Given the description of an element on the screen output the (x, y) to click on. 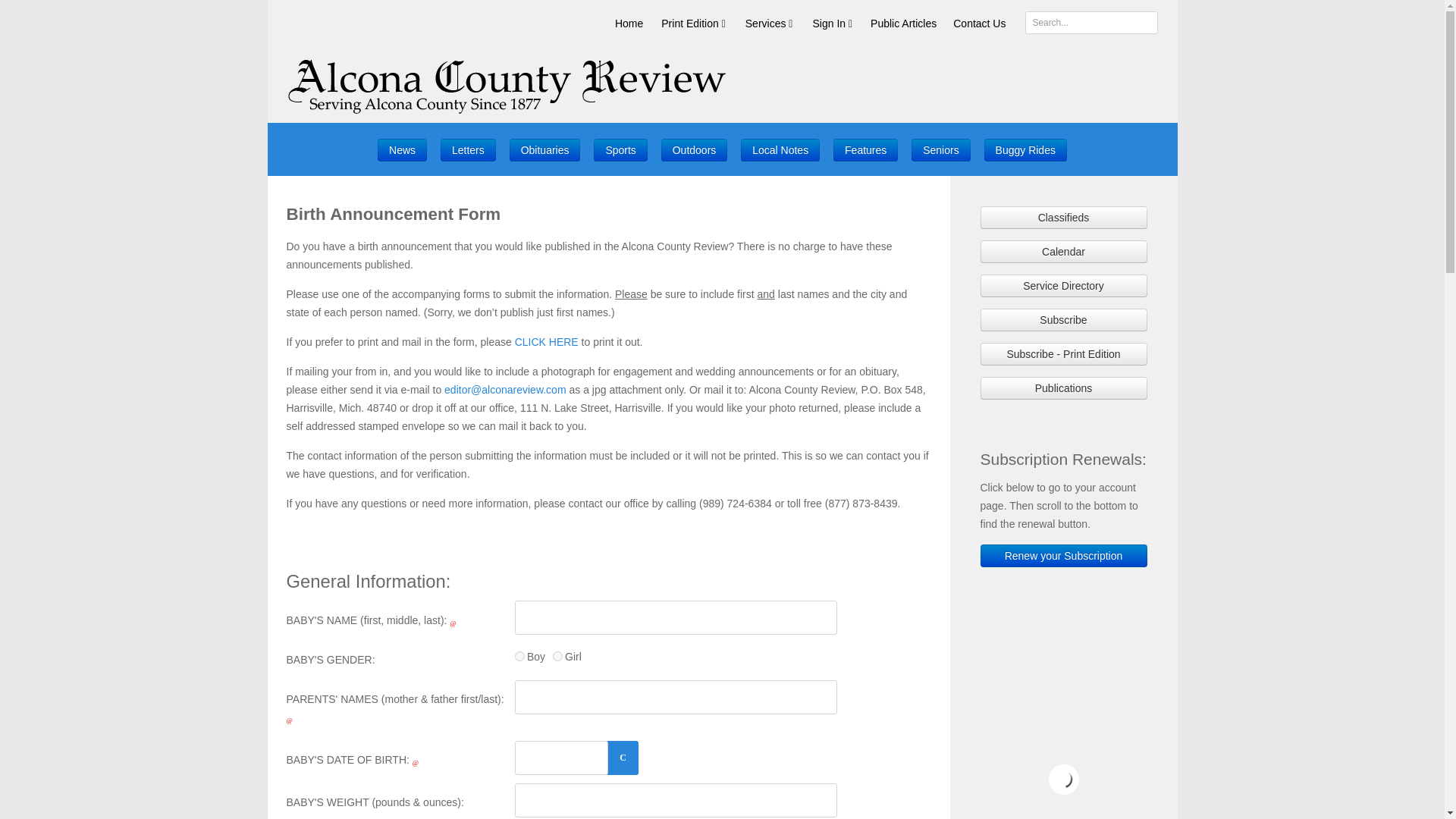
... (623, 757)
Local Notes (780, 149)
Home (628, 22)
Obituaries (544, 149)
Letters (468, 149)
Contact Us (978, 22)
Features (865, 149)
Sports (620, 149)
Girl (557, 655)
Seniors (940, 149)
